Given the description of an element on the screen output the (x, y) to click on. 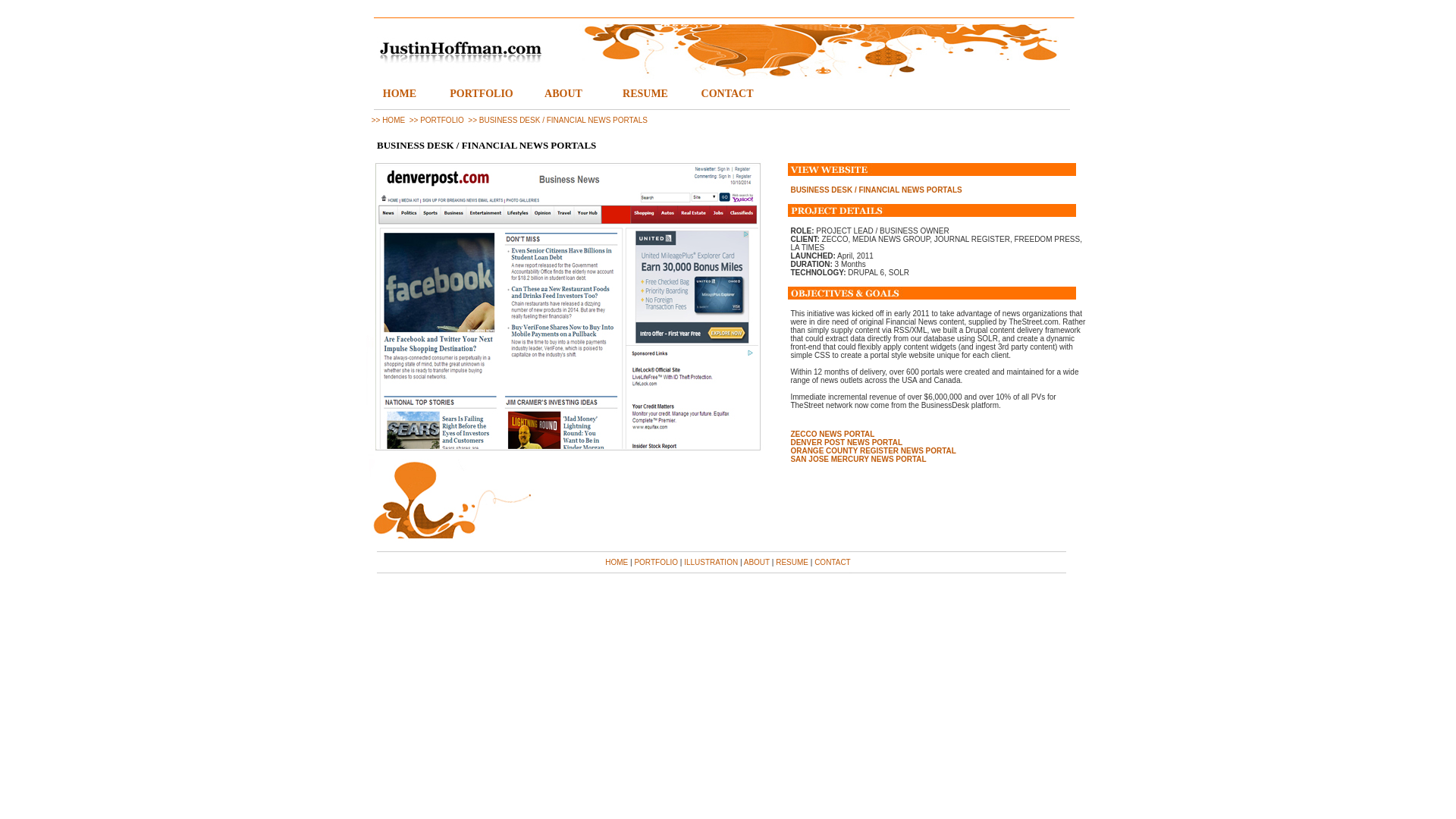
HOME (616, 561)
CONTACT (831, 561)
ZECCO NEWS PORTAL (832, 433)
PORTFOLIO (481, 94)
ILLUSTRATION (711, 561)
ABOUT (757, 561)
PORTFOLIO (655, 561)
RESUME (644, 94)
ORANGE COUNTY REGISTER NEWS PORTAL (873, 450)
ABOUT (563, 94)
HOME (399, 94)
CONTACT (726, 94)
RESUME (792, 561)
DENVER POST NEWS PORTAL (846, 442)
SAN JOSE MERCURY NEWS PORTAL (858, 459)
